Given the description of an element on the screen output the (x, y) to click on. 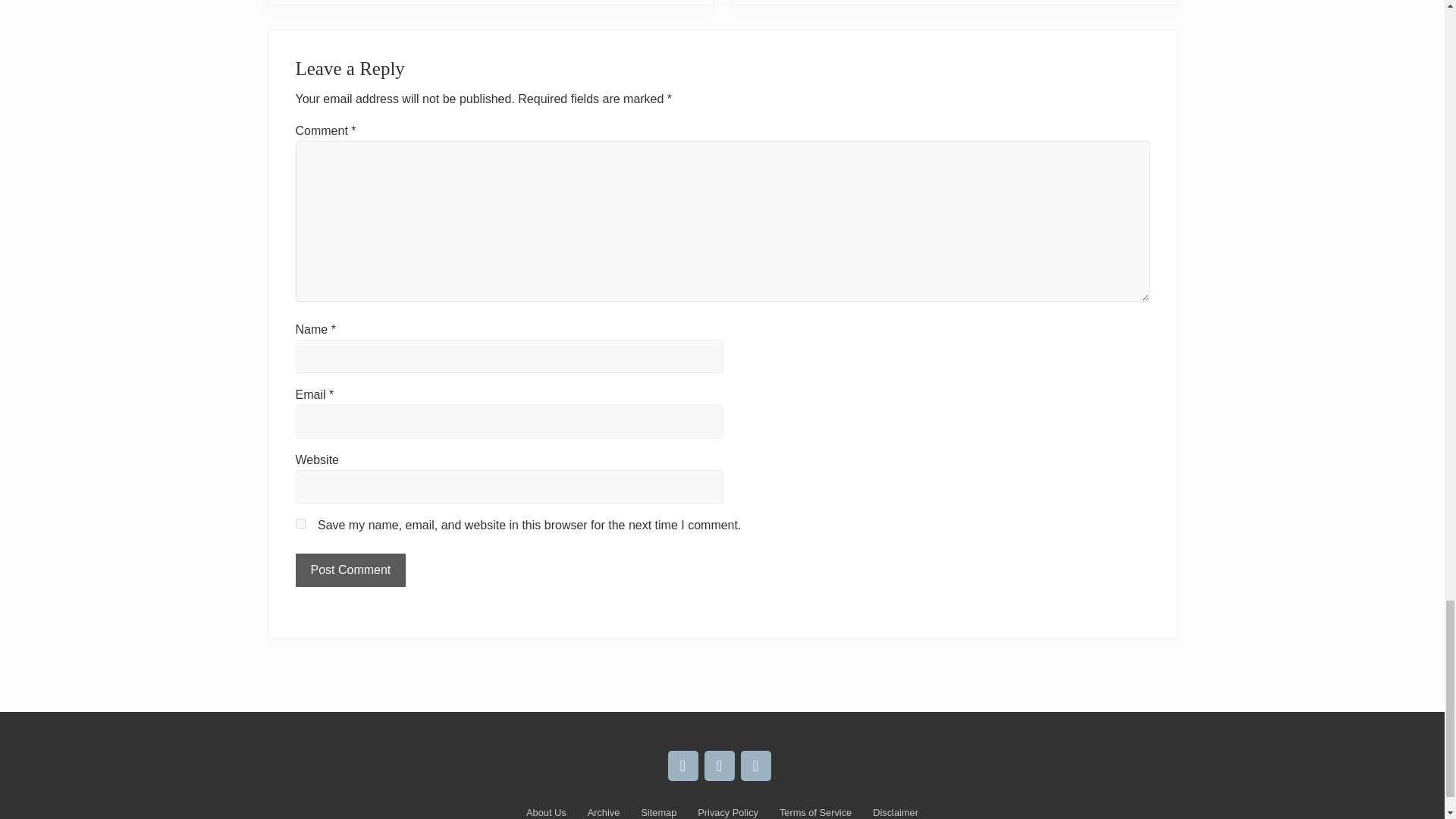
About Us (545, 810)
Archive (603, 810)
Spotify (681, 766)
Sitemap (658, 810)
Contact (754, 766)
Post Comment (350, 570)
yes (300, 523)
Post Comment (350, 570)
Instagram (718, 766)
